Given the description of an element on the screen output the (x, y) to click on. 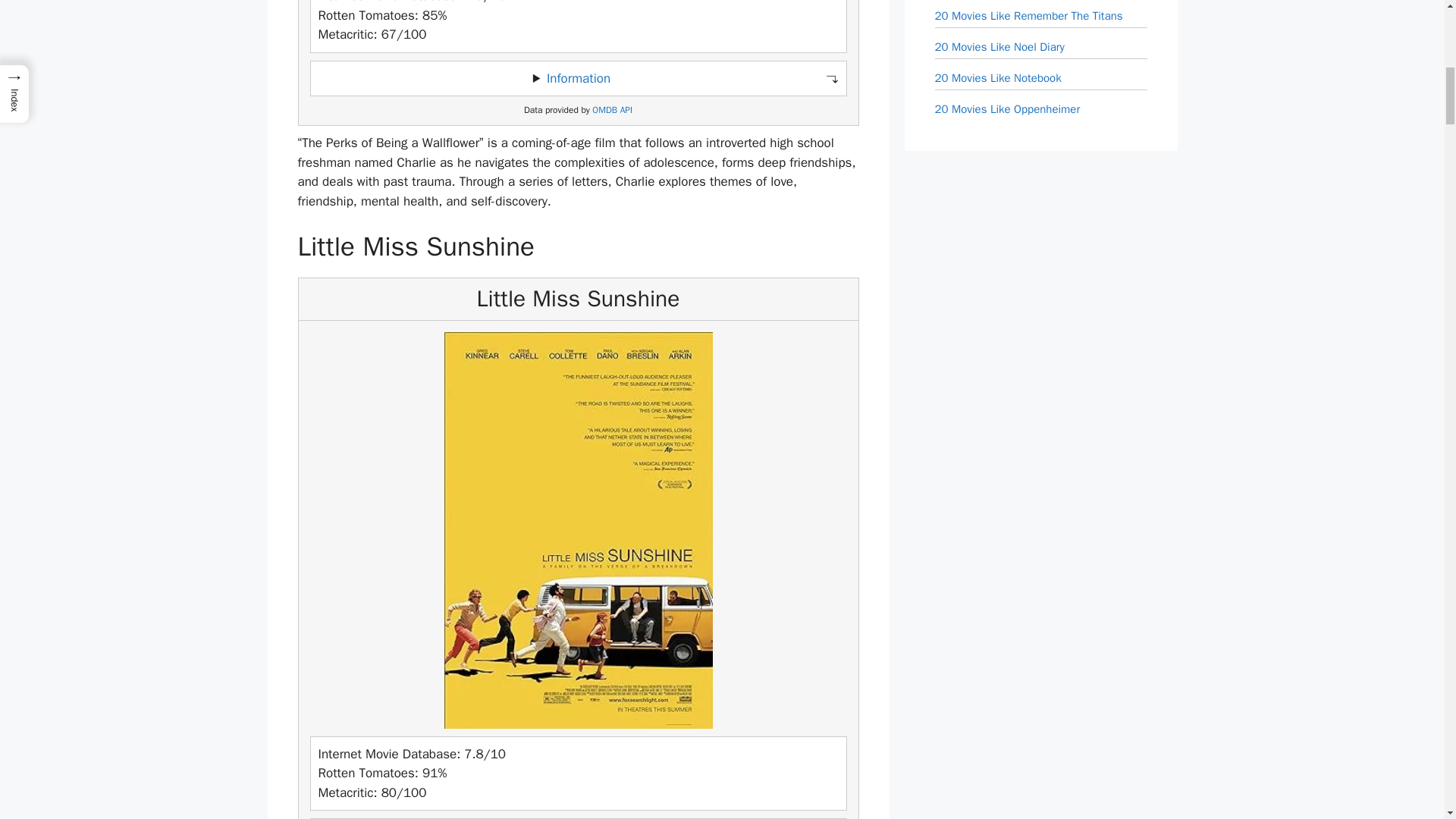
OMDB API (611, 110)
Information (578, 78)
Open Movie Database API (611, 110)
Toggle information (578, 78)
